Given the description of an element on the screen output the (x, y) to click on. 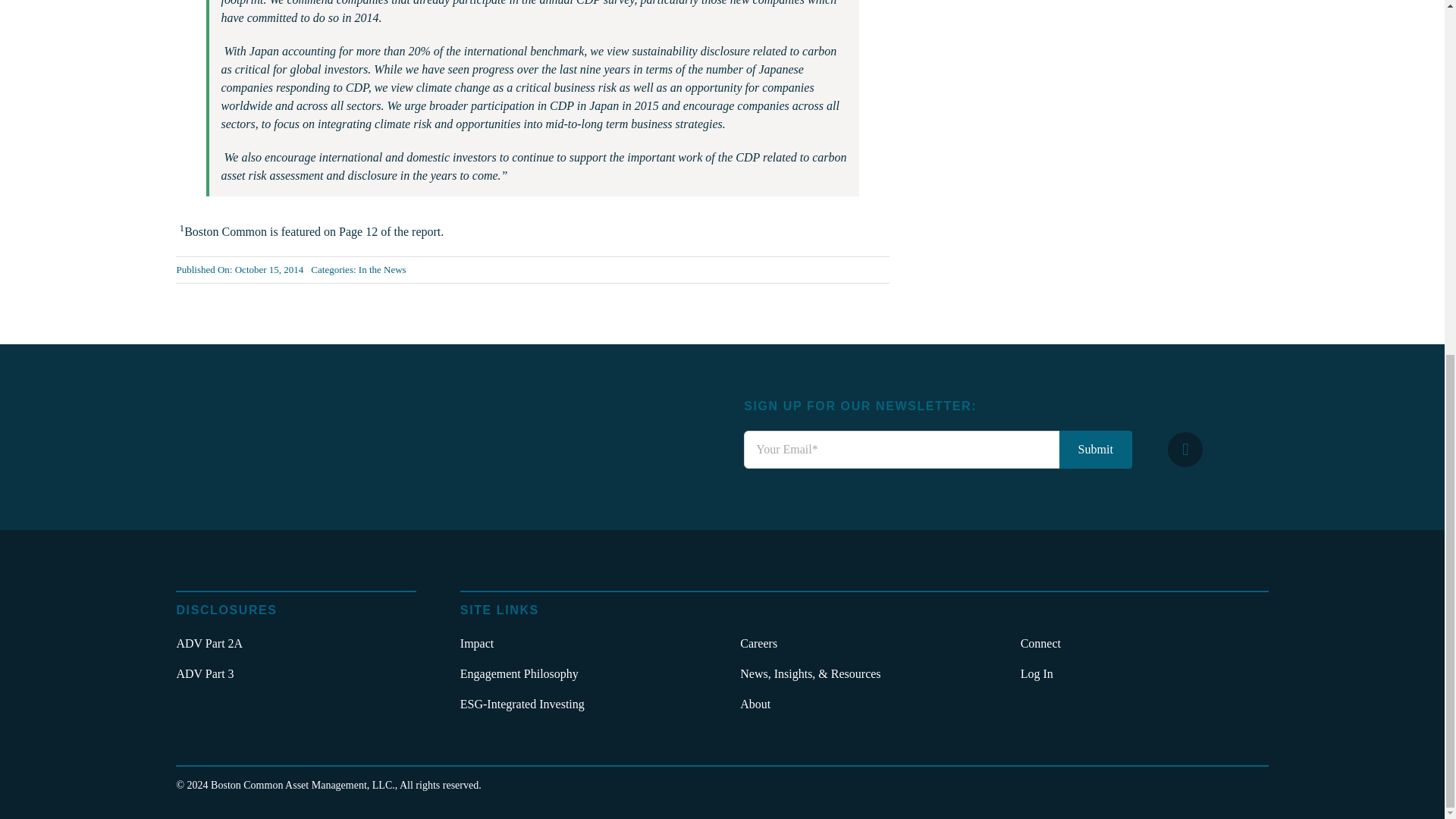
ADV Part 3 (296, 674)
In the News (382, 269)
Impact (583, 643)
Submit (1095, 449)
ADV Part 2A (296, 643)
ESG-Integrated Investing (583, 704)
Engagement Philosophy (583, 674)
